Given the description of an element on the screen output the (x, y) to click on. 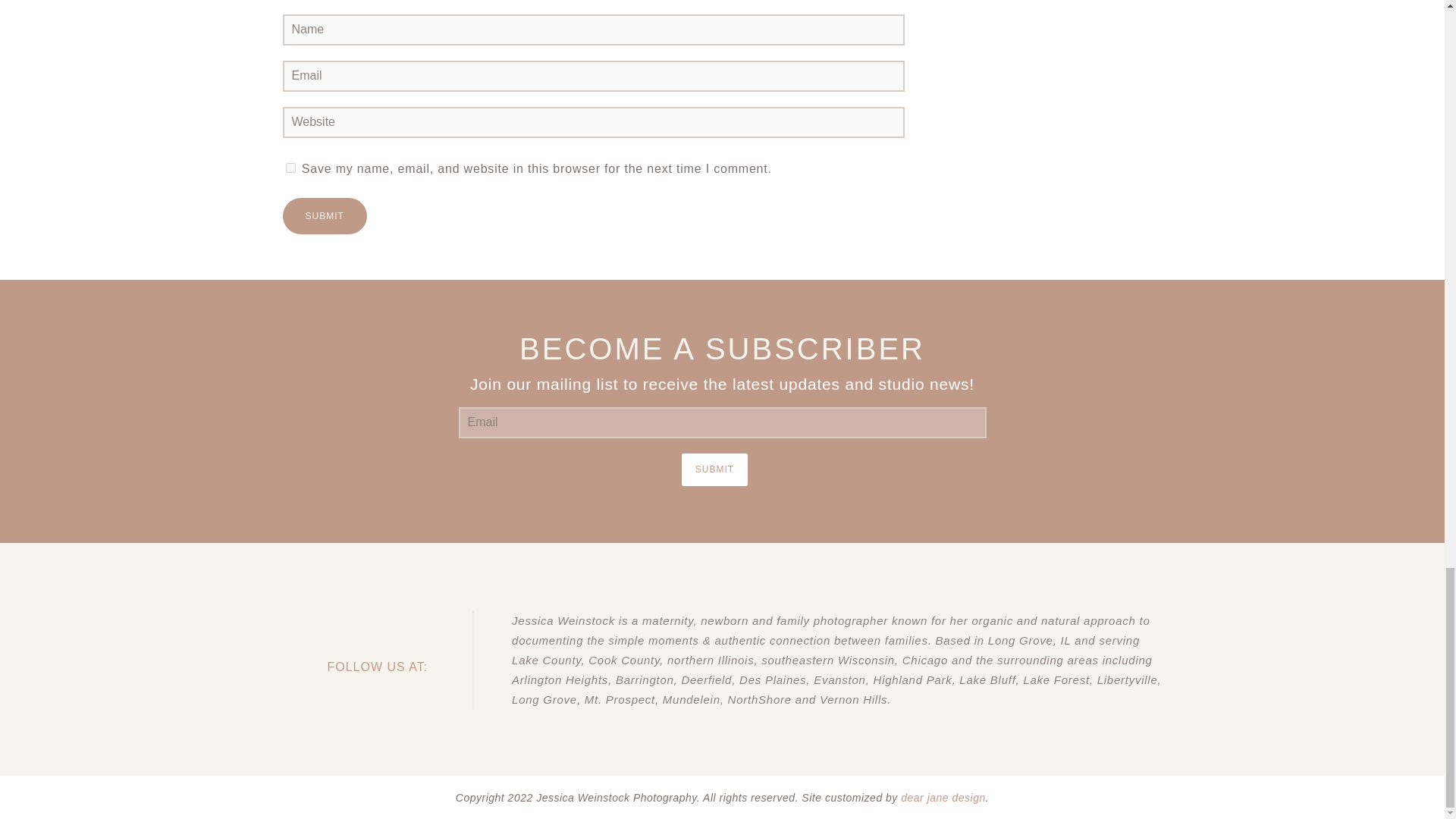
Submit (714, 469)
yes (290, 167)
Submit (324, 216)
